Given the description of an element on the screen output the (x, y) to click on. 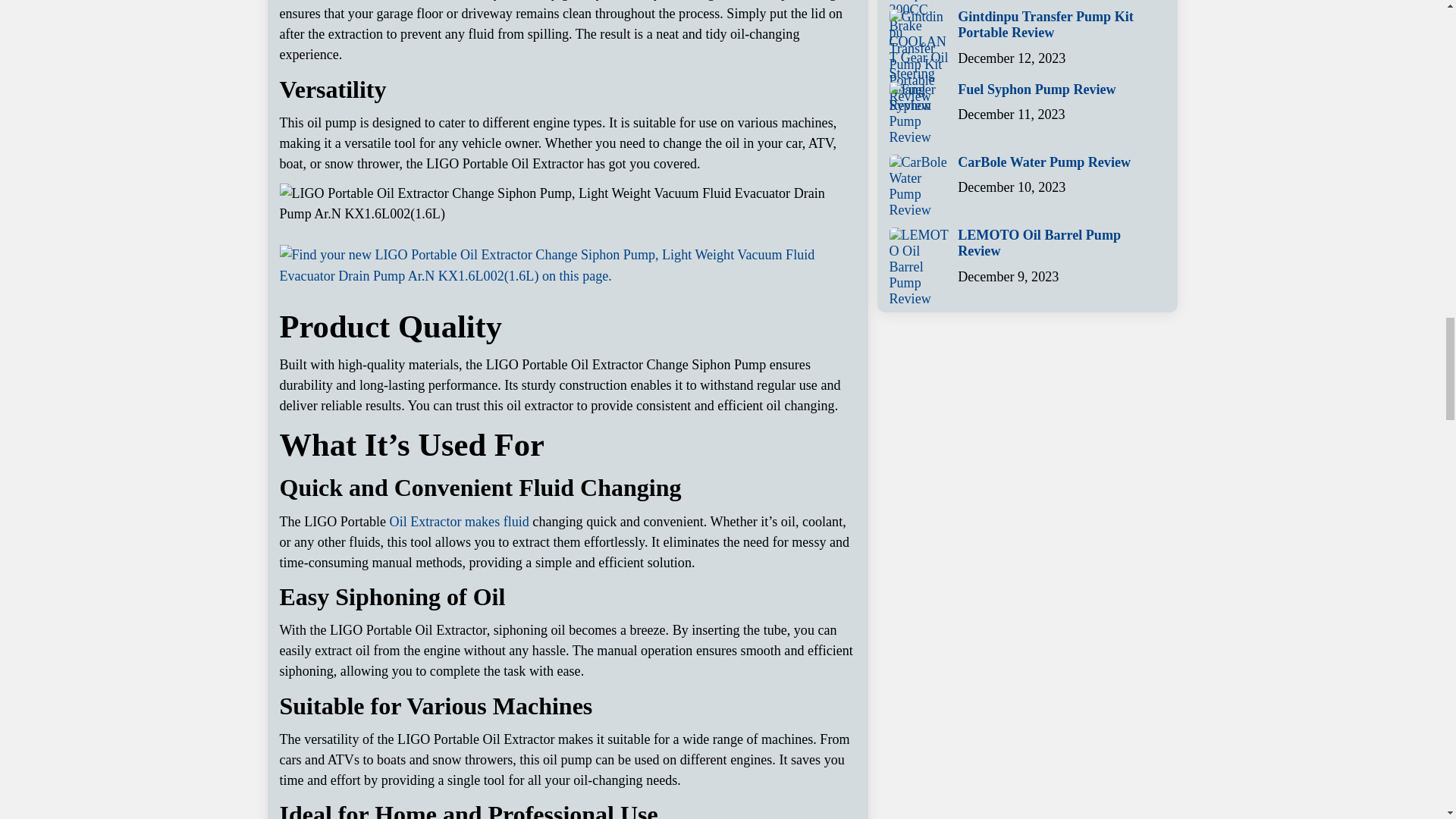
Oil Extractor makes fluid (459, 521)
